Given the description of an element on the screen output the (x, y) to click on. 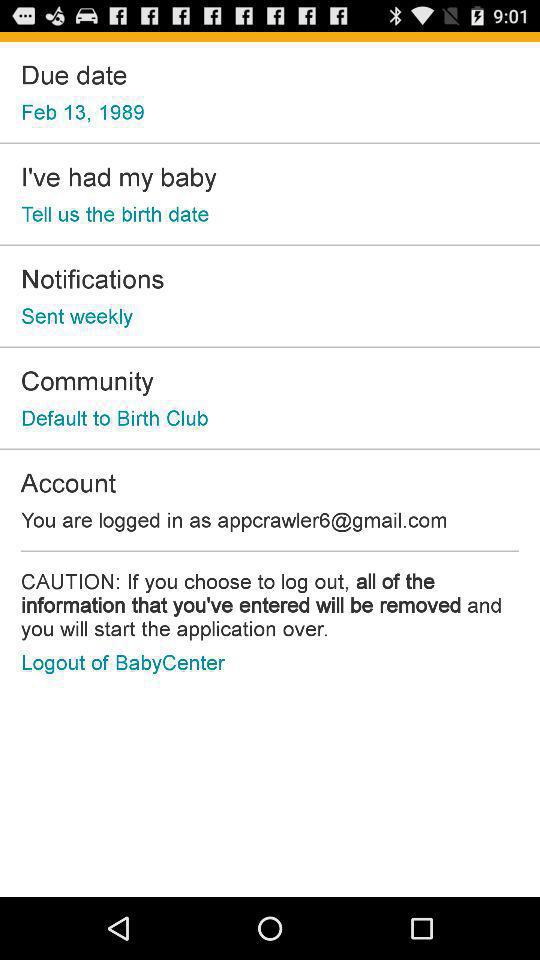
choose the logout of babycenter item (122, 662)
